Given the description of an element on the screen output the (x, y) to click on. 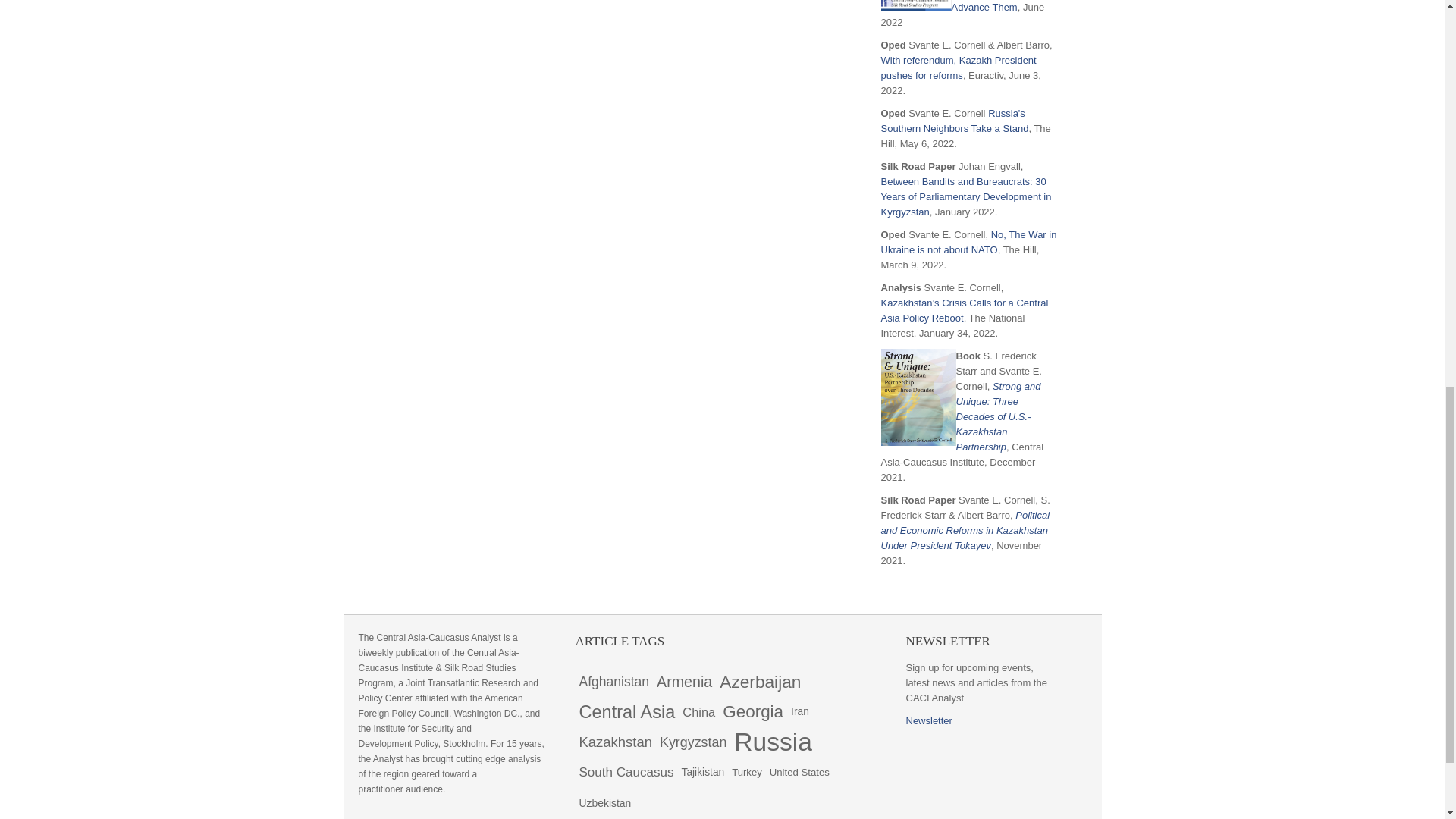
125 items tagged with Kazakhstan (615, 742)
139 items tagged with Armenia (684, 681)
72 items tagged with Uzbekistan (604, 802)
102 items tagged with China (698, 711)
303 items tagged with Russia (772, 742)
Russia's Southern Neighbors Take a Stand (954, 120)
109 items tagged with South Caucasus (626, 772)
With referendum, Kazakh President pushes for reforms (958, 67)
Azerbaijan (760, 681)
175 items tagged with Azerbaijan (760, 681)
184 items tagged with Central Asia (626, 711)
Afghanistan (613, 681)
